Given the description of an element on the screen output the (x, y) to click on. 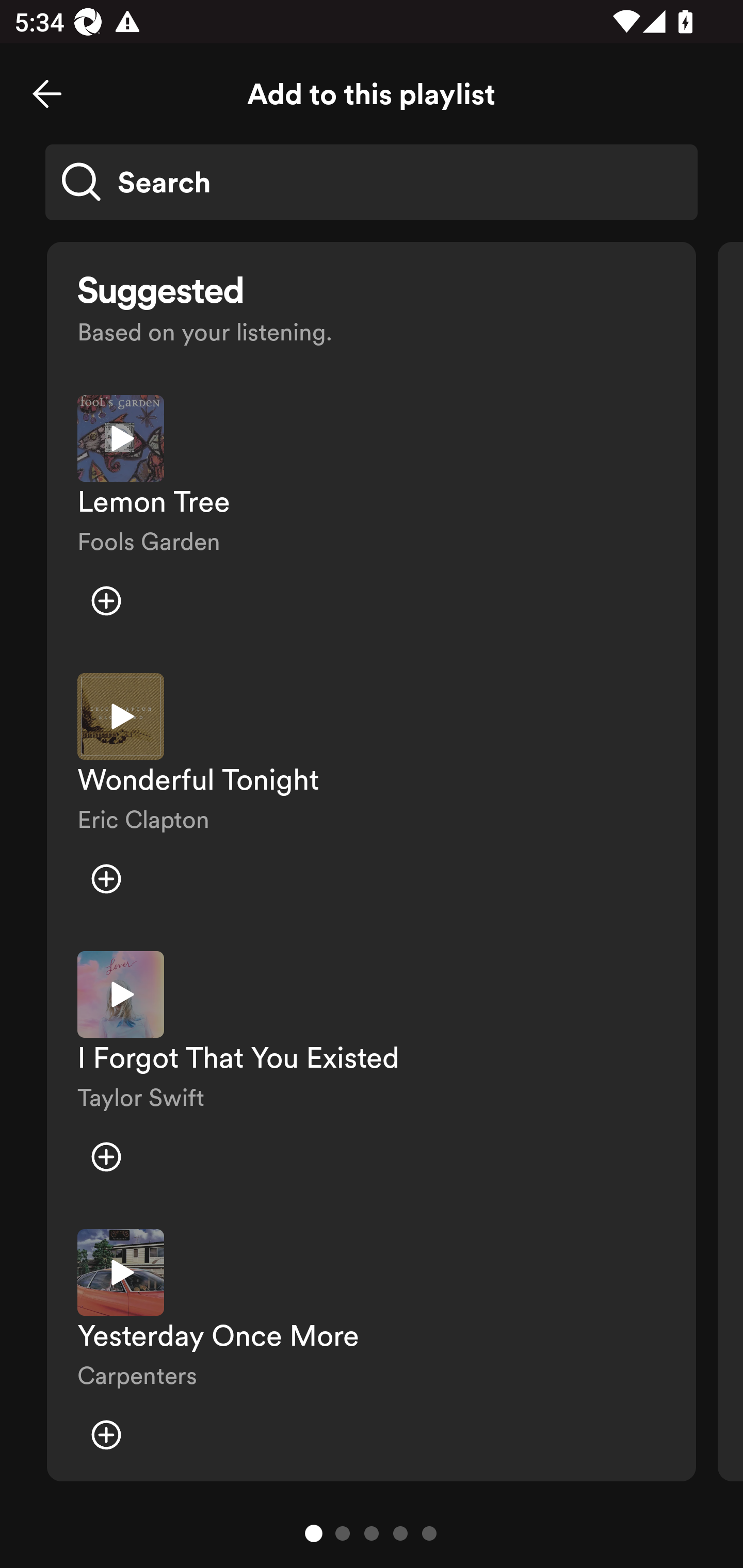
Close (46, 93)
Search (371, 181)
Play preview Lemon Tree Fools Garden Add item (371, 519)
Play preview (120, 438)
Add item (106, 601)
Play preview (120, 716)
Add item (106, 878)
Play preview (120, 994)
Add item (106, 1156)
Play preview (120, 1272)
Add item (106, 1435)
